Given the description of an element on the screen output the (x, y) to click on. 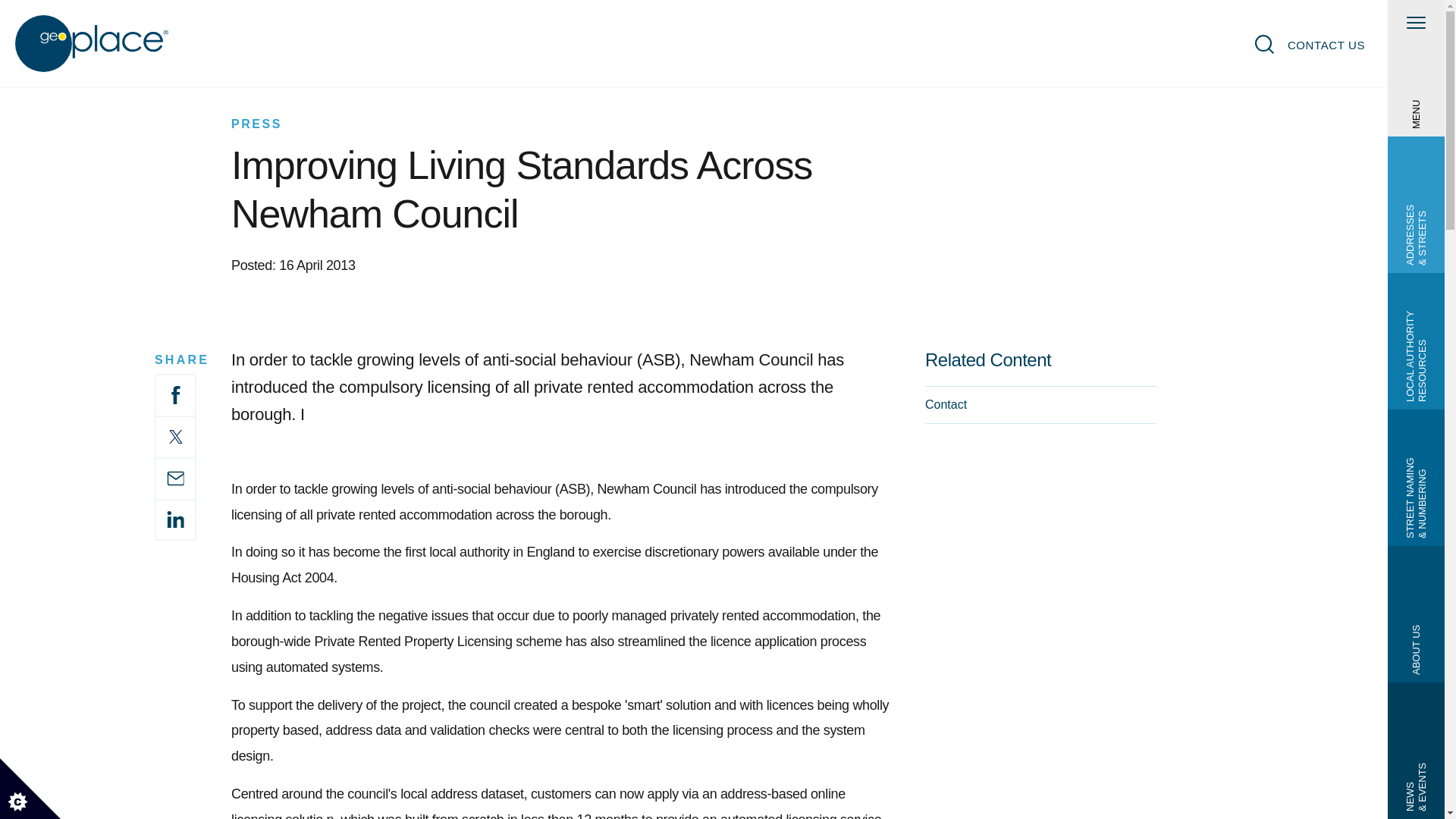
Home (92, 43)
CONTACT US (1326, 44)
Show search (1264, 44)
